Given the description of an element on the screen output the (x, y) to click on. 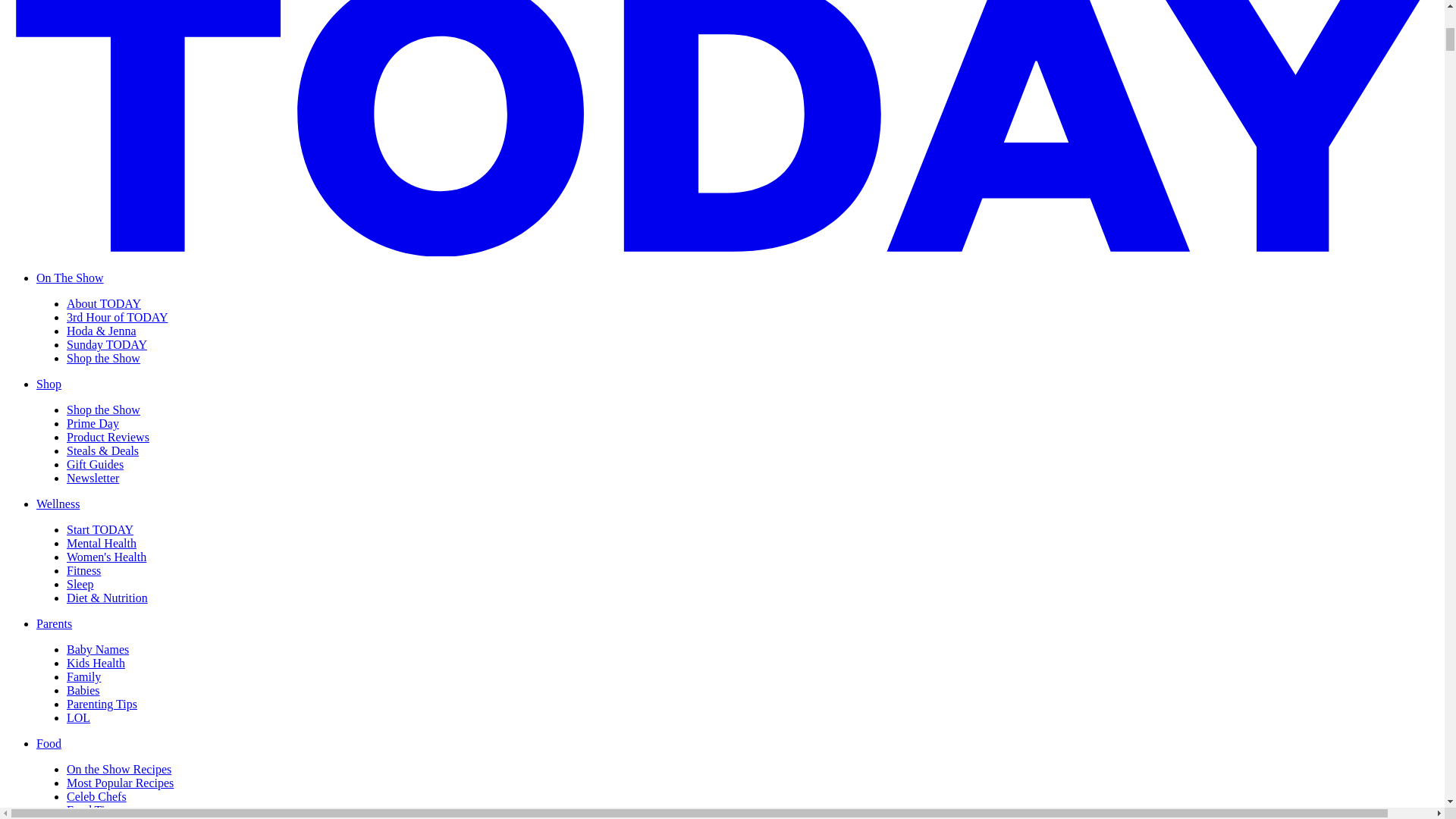
Parents (53, 623)
Wellness (58, 503)
Start TODAY (99, 529)
Newsletter (92, 477)
3rd Hour of TODAY (116, 317)
LOL (78, 717)
Sleep (80, 584)
On The Show (69, 277)
Product Reviews (107, 436)
Family (83, 676)
Shop the Show (102, 409)
Prime Day (92, 422)
Food Tips (91, 809)
Babies (83, 689)
Shop (48, 383)
